Given the description of an element on the screen output the (x, y) to click on. 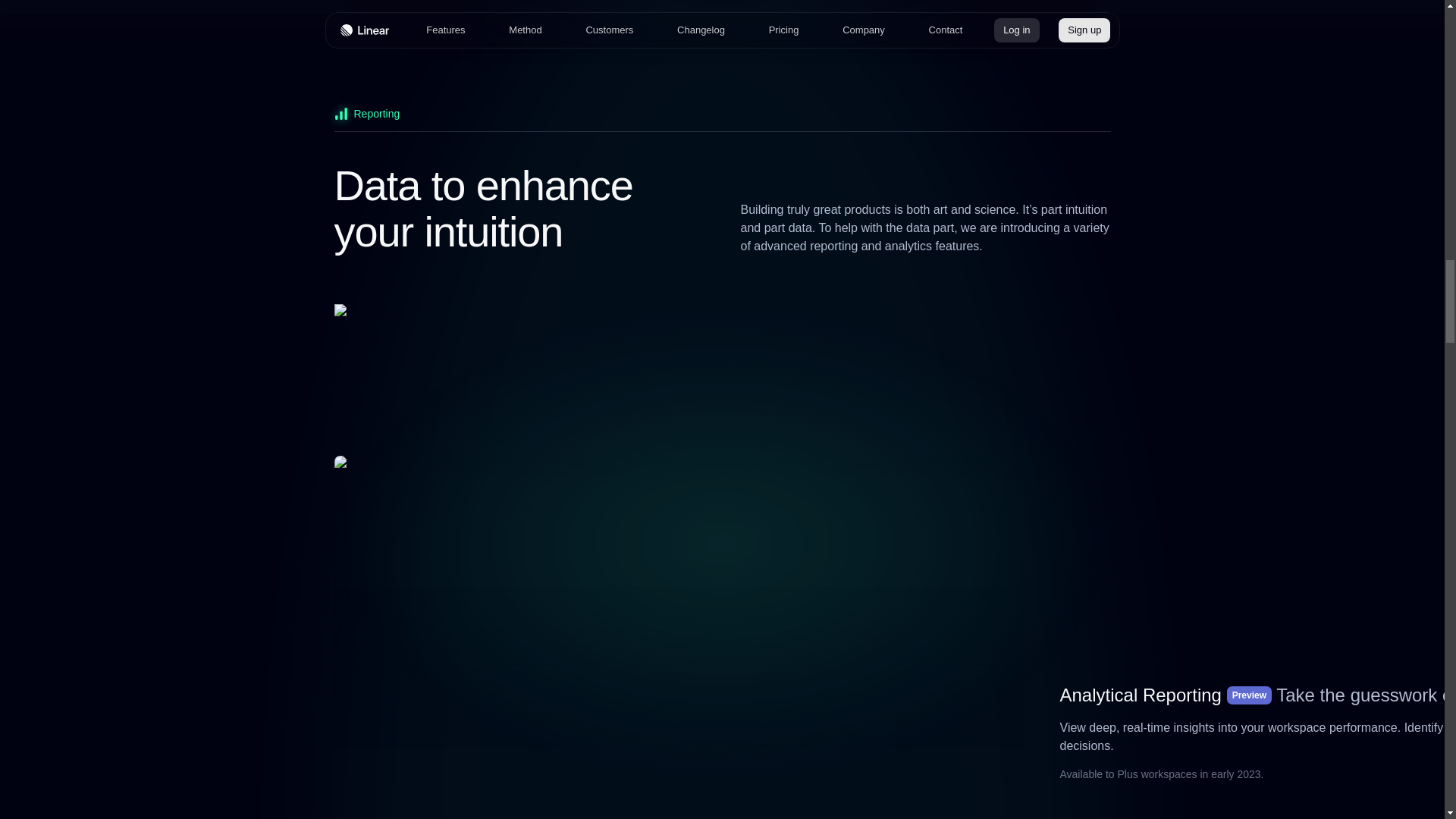
Reporting (721, 118)
